Given the description of an element on the screen output the (x, y) to click on. 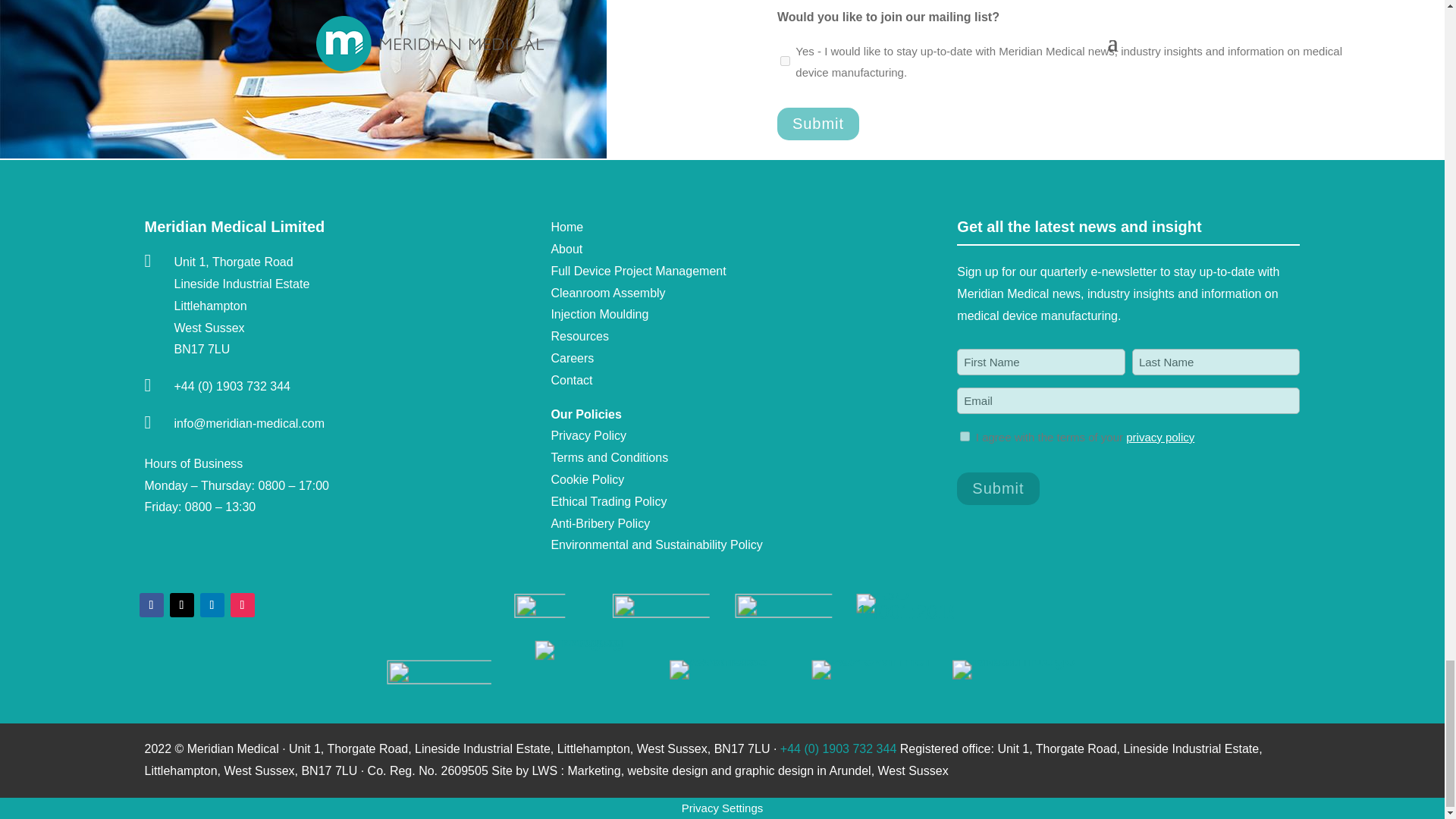
medical-manufacturer-iso-13485 (642, 607)
Meridian Medical Icon (529, 609)
Follow on Instagram (242, 604)
ISO 14001:2015 (887, 604)
cyber-essentials-certified-logo (419, 675)
Medical device manufacturing project contact (303, 79)
Submit (818, 123)
Follow on Facebook (151, 604)
Follow on LinkedIn (212, 604)
